Given the description of an element on the screen output the (x, y) to click on. 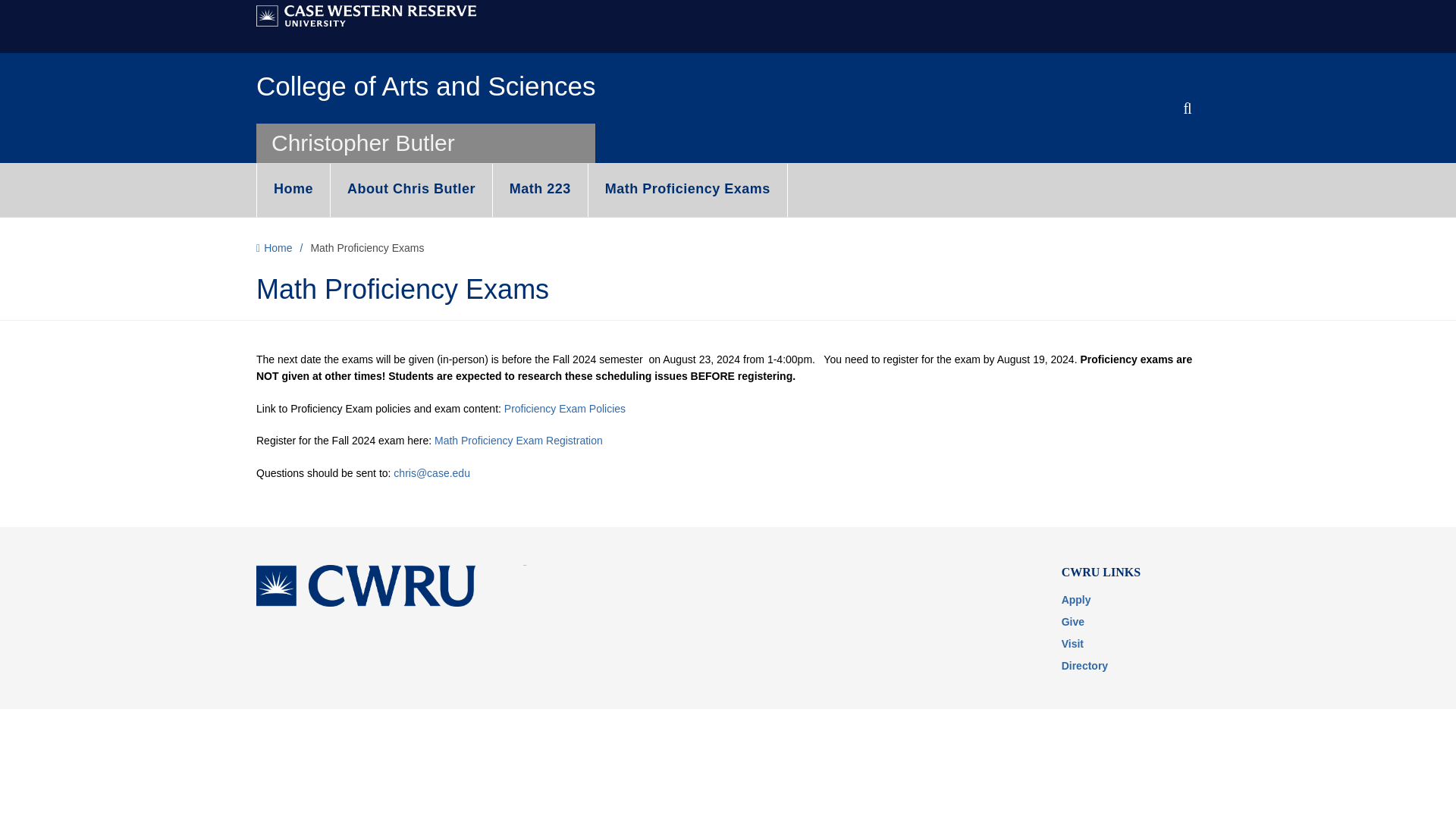
Directory (1084, 665)
Christopher Butler (362, 142)
Proficiency Exam Policies (564, 408)
Math Proficiency Exams (687, 190)
Apply (1075, 599)
About Chris Butler (411, 190)
College of Arts and Sciences (425, 85)
Math Proficiency Exam Registration (517, 440)
Math 223 (540, 190)
Search (1122, 150)
Visit (1072, 644)
Give (1072, 621)
Home (283, 248)
Home (293, 190)
